Given the description of an element on the screen output the (x, y) to click on. 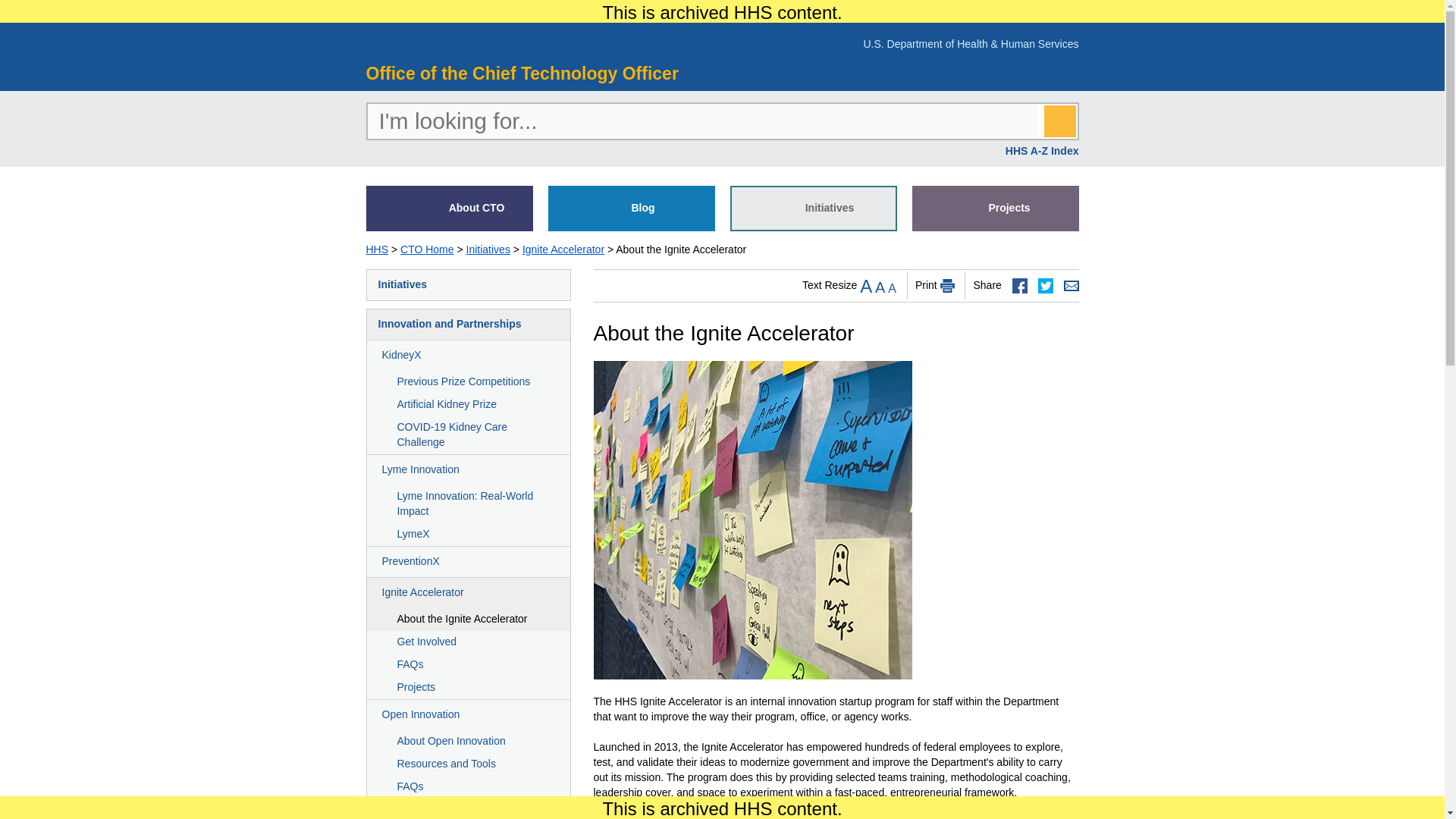
HHS A-Z Index (1042, 150)
Facebook (1019, 285)
Search (1059, 121)
HHS (376, 249)
Search Text (702, 121)
LymeX (468, 534)
Lyme Innovation: Real-World Impact (468, 504)
Artificial Kidney Prize (468, 404)
Search (1059, 121)
HHS (442, 41)
